Given the description of an element on the screen output the (x, y) to click on. 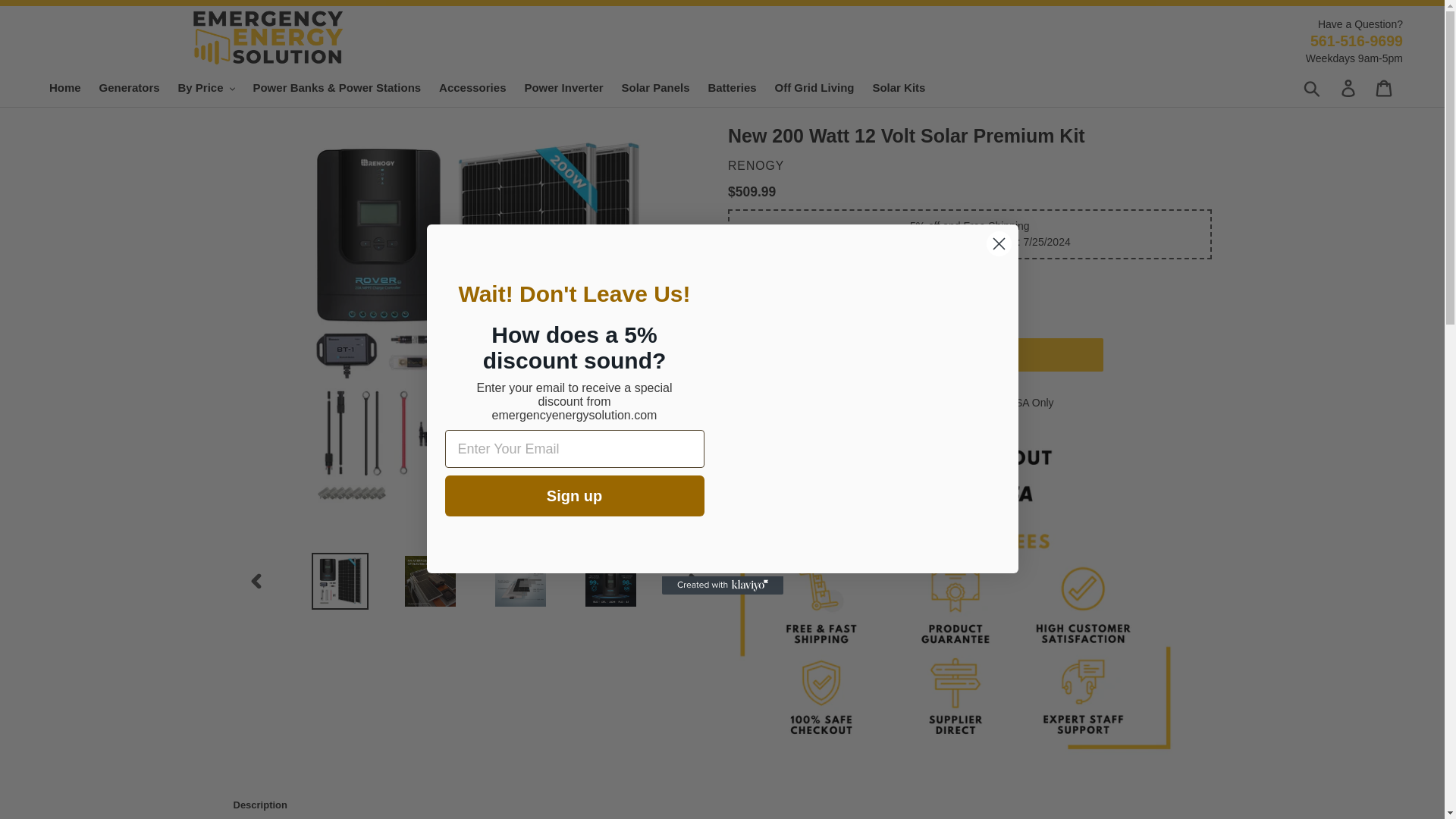
Home (65, 87)
Accessories (471, 87)
Solar Kits (898, 87)
Off Grid Living (814, 87)
Cart (1385, 88)
Power Inverter (563, 87)
Batteries (731, 87)
Log in (1349, 88)
Submit (1313, 87)
Solar Panels (654, 87)
1 (765, 354)
Generators (129, 87)
